Given the description of an element on the screen output the (x, y) to click on. 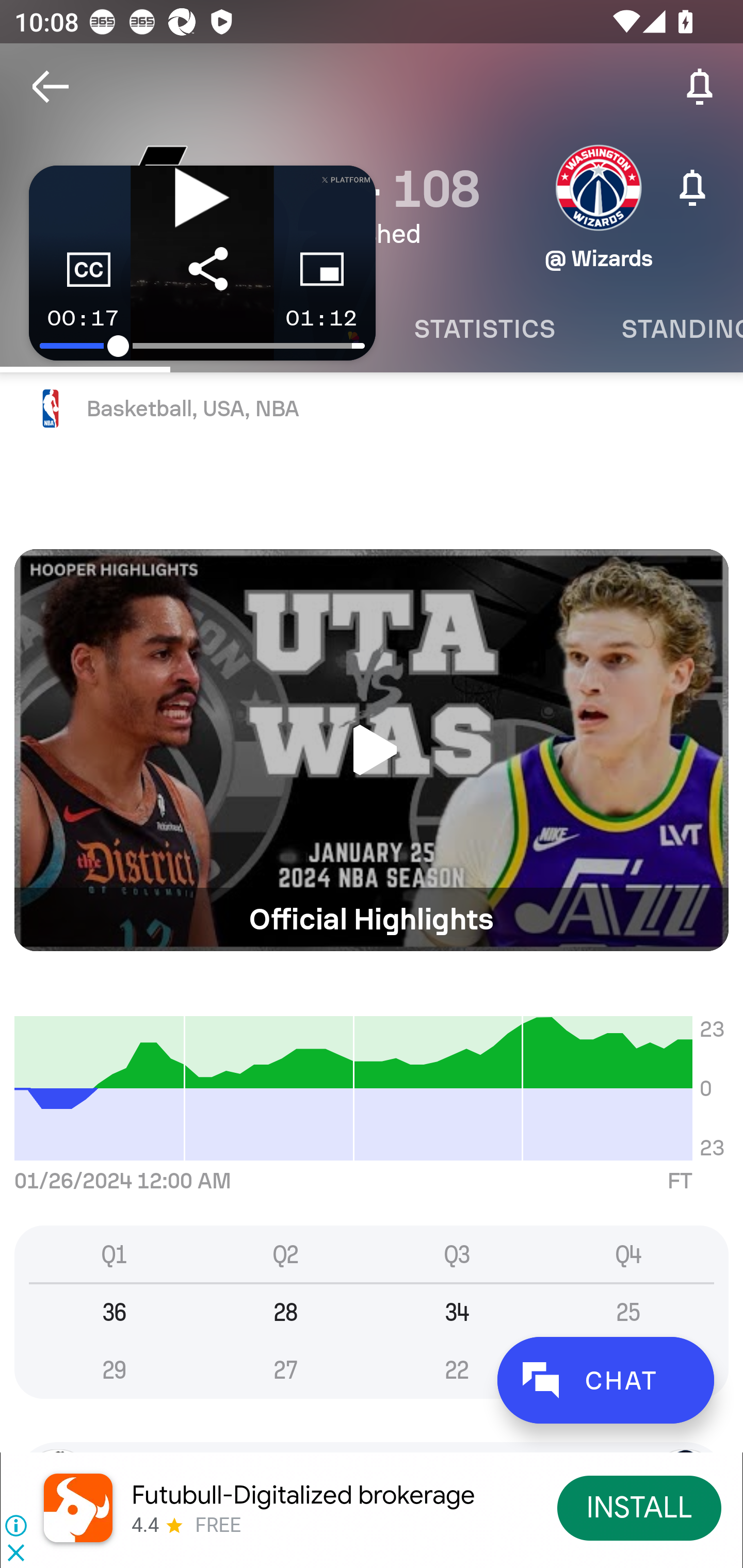
Navigate up (50, 86)
Statistics STATISTICS (484, 329)
Basketball, USA, NBA (371, 409)
CHAT (605, 1380)
INSTALL (639, 1507)
Futubull-Digitalized brokerage (302, 1494)
